Given the description of an element on the screen output the (x, y) to click on. 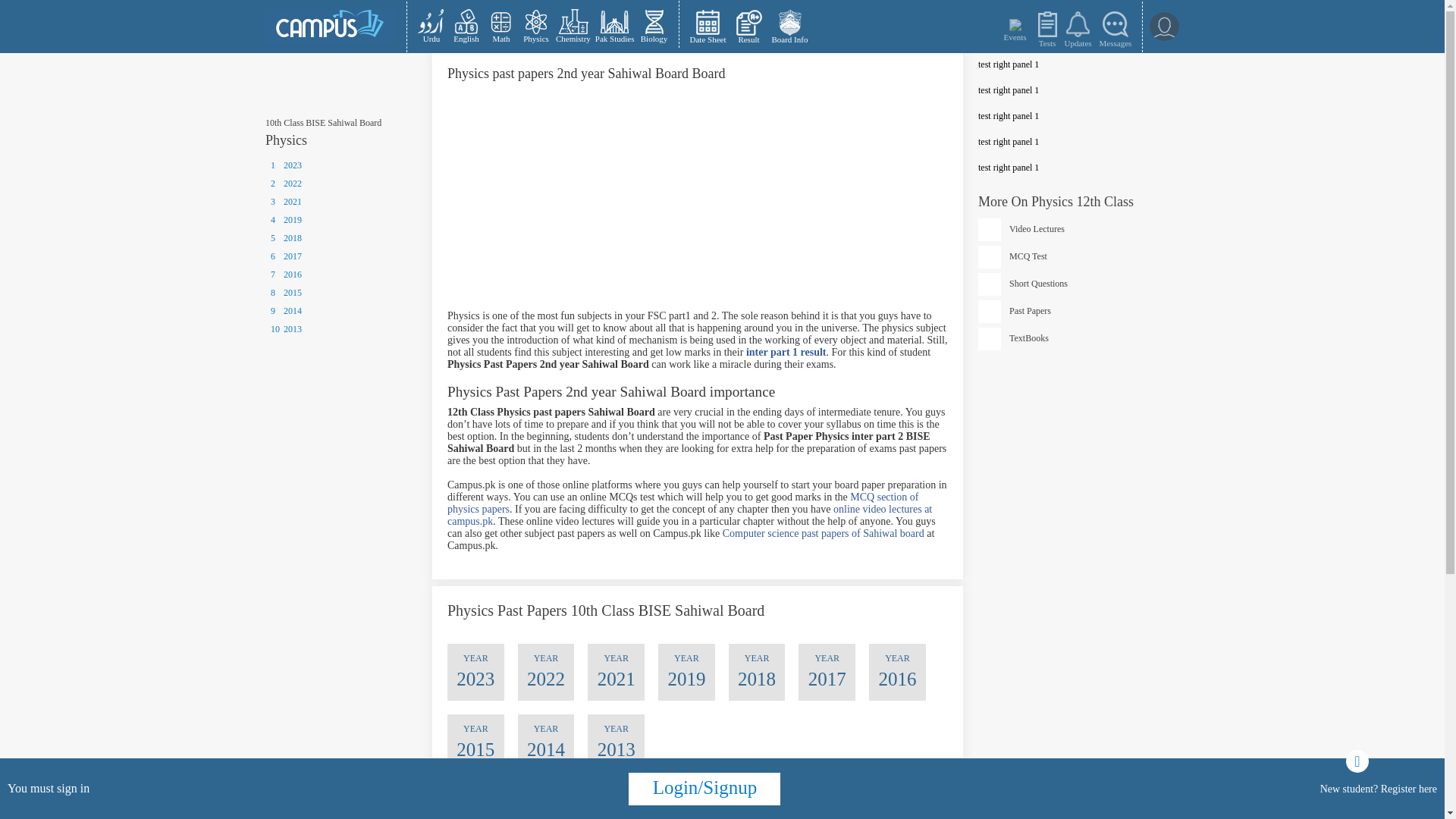
Pak Studies (614, 25)
Register here (1408, 787)
